Given the description of an element on the screen output the (x, y) to click on. 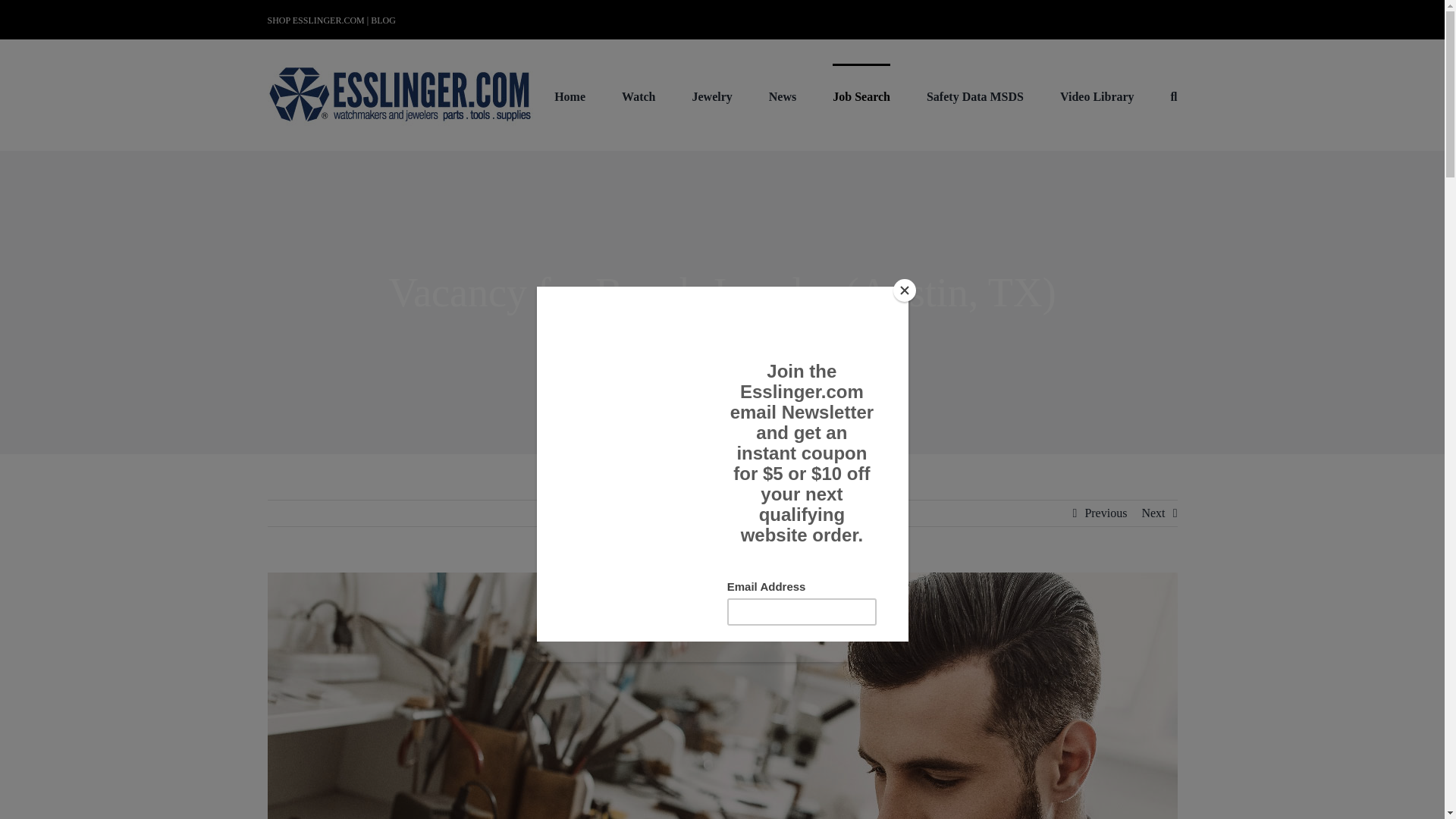
Video Library (1096, 95)
BLOG (383, 20)
Job Search (860, 95)
SHOP ESSLINGER.COM (315, 20)
Safety Data MSDS (974, 95)
